Given the description of an element on the screen output the (x, y) to click on. 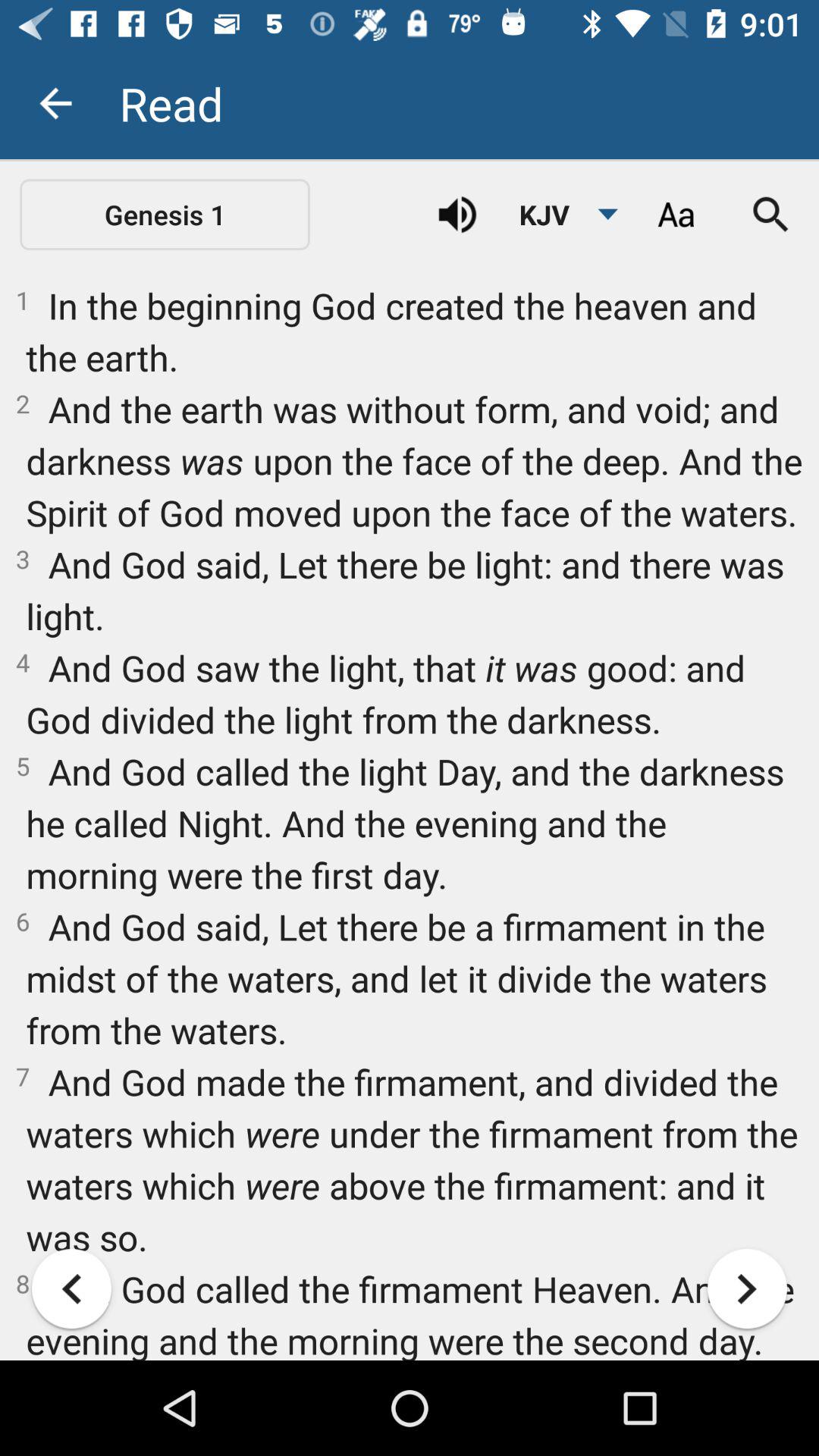
turn on icon to the right of kjv (675, 214)
